Given the description of an element on the screen output the (x, y) to click on. 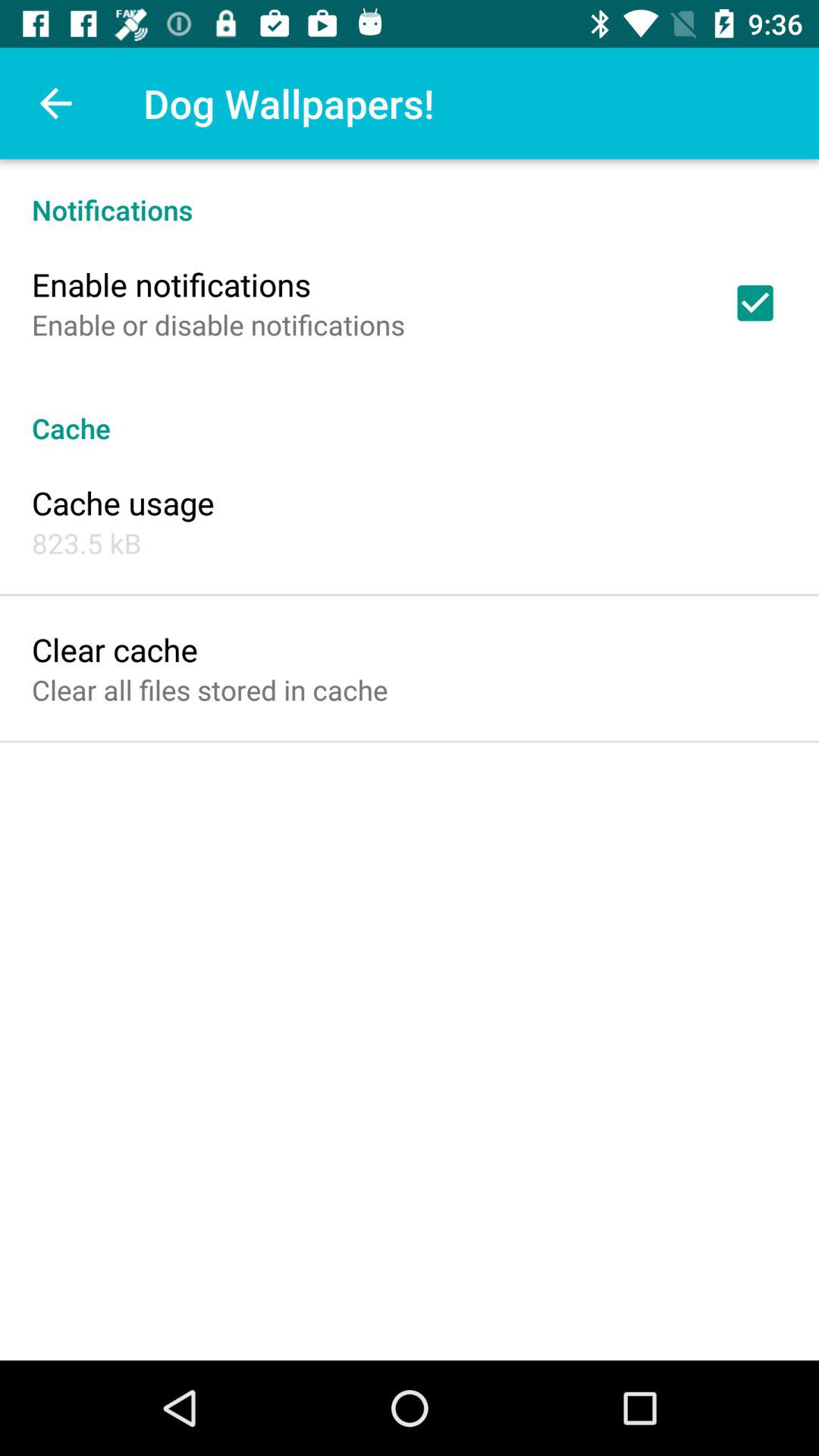
tap the icon above clear cache (86, 542)
